Given the description of an element on the screen output the (x, y) to click on. 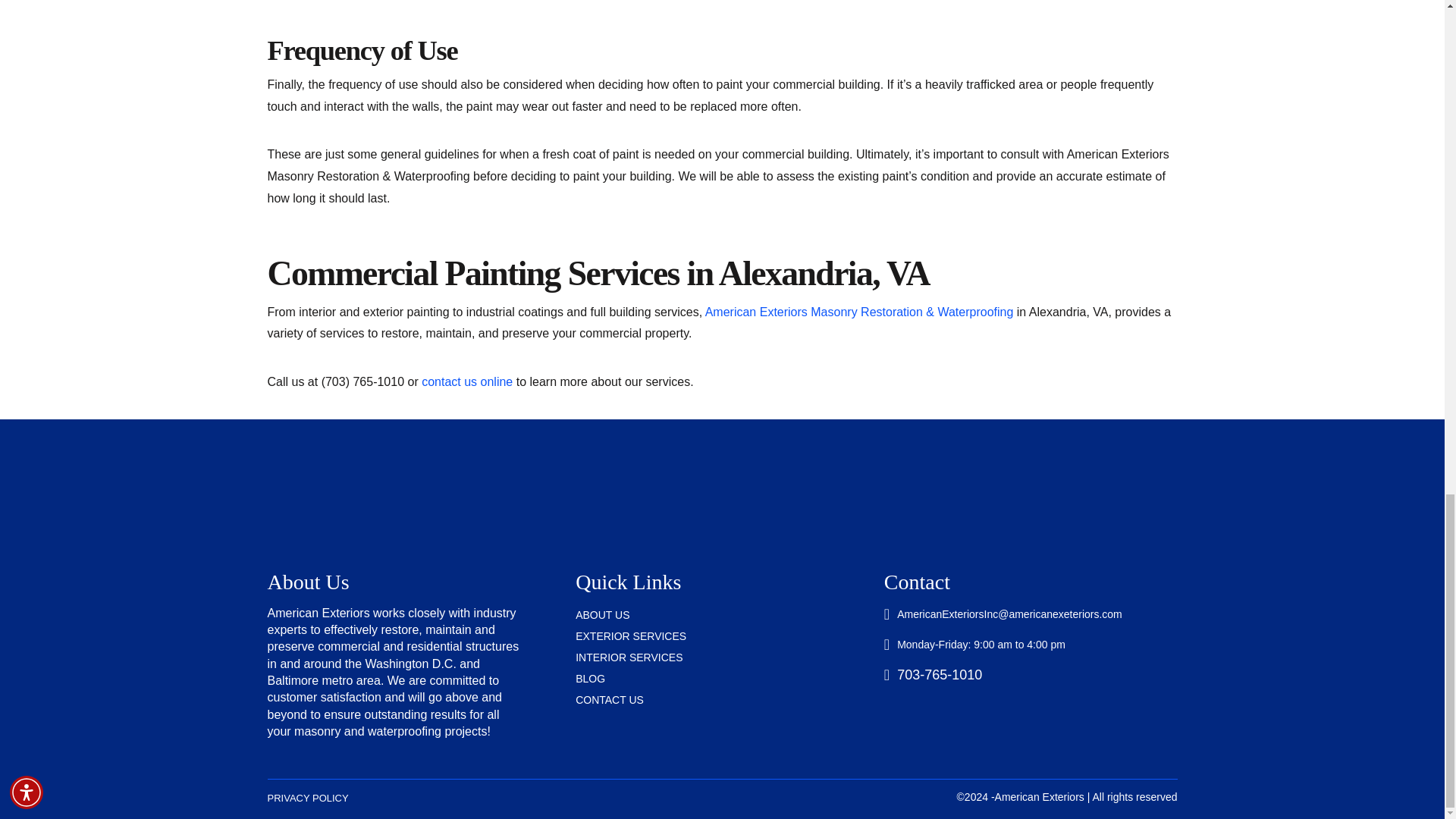
ABOUT US (722, 615)
CONTACT US (722, 700)
INTERIOR SERVICES (722, 658)
703-765-1010 (1030, 674)
EXTERIOR SERVICES (722, 636)
PRIVACY POLICY (306, 798)
contact us online (467, 381)
BLOG (722, 679)
